Given the description of an element on the screen output the (x, y) to click on. 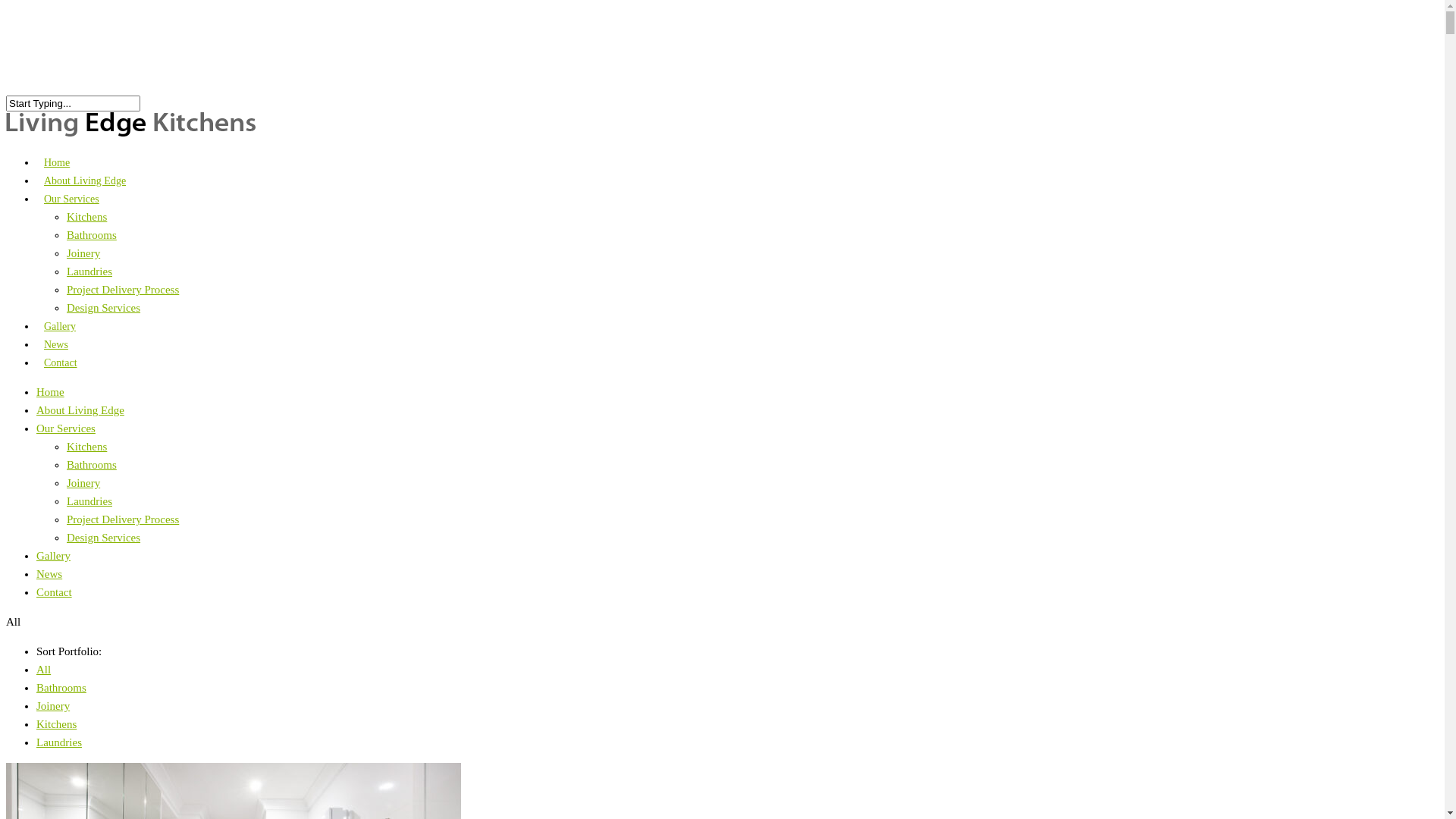
All Element type: text (43, 669)
About Living Edge Element type: text (80, 410)
Contact Element type: text (54, 592)
Bathrooms Element type: text (61, 687)
Bathrooms Element type: text (91, 235)
Laundries Element type: text (89, 271)
Joinery Element type: text (52, 705)
Contact Element type: text (60, 373)
Home Element type: text (56, 173)
Laundries Element type: text (58, 742)
Joinery Element type: text (83, 482)
Design Services Element type: text (103, 537)
Design Services Element type: text (103, 307)
Home Element type: text (50, 391)
News Element type: text (49, 573)
Gallery Element type: text (53, 555)
Our Services Element type: text (71, 209)
Kitchens Element type: text (86, 216)
Gallery Element type: text (59, 336)
Our Services Element type: text (65, 428)
Laundries Element type: text (89, 501)
Bathrooms Element type: text (91, 464)
Project Delivery Process Element type: text (122, 519)
Kitchens Element type: text (86, 446)
About Living Edge Element type: text (84, 191)
News Element type: text (55, 355)
Project Delivery Process Element type: text (122, 289)
Joinery Element type: text (83, 253)
Kitchens Element type: text (56, 724)
